Given the description of an element on the screen output the (x, y) to click on. 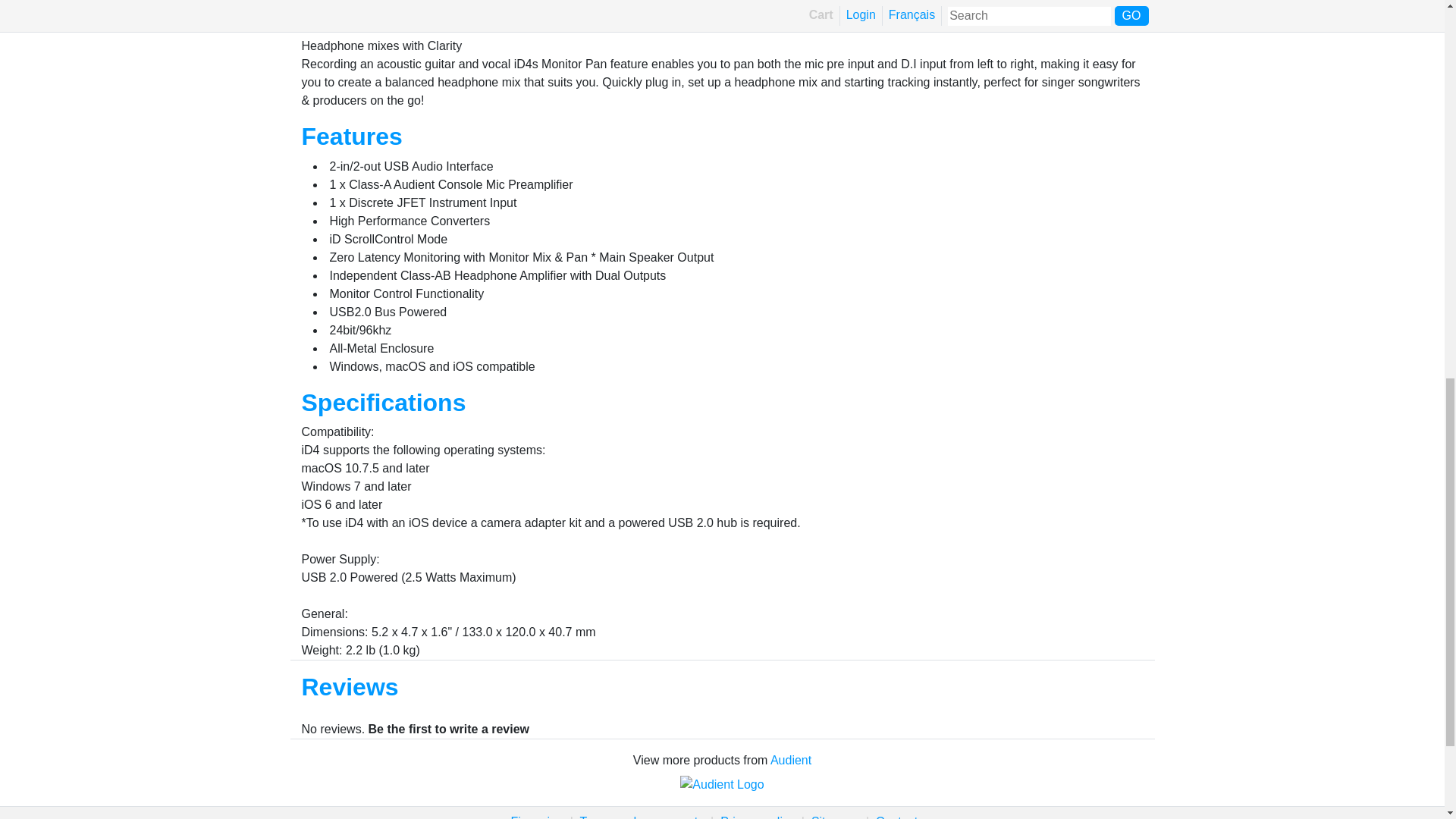
Be the first to write a review (448, 728)
Financing (537, 816)
Audient (790, 759)
